Given the description of an element on the screen output the (x, y) to click on. 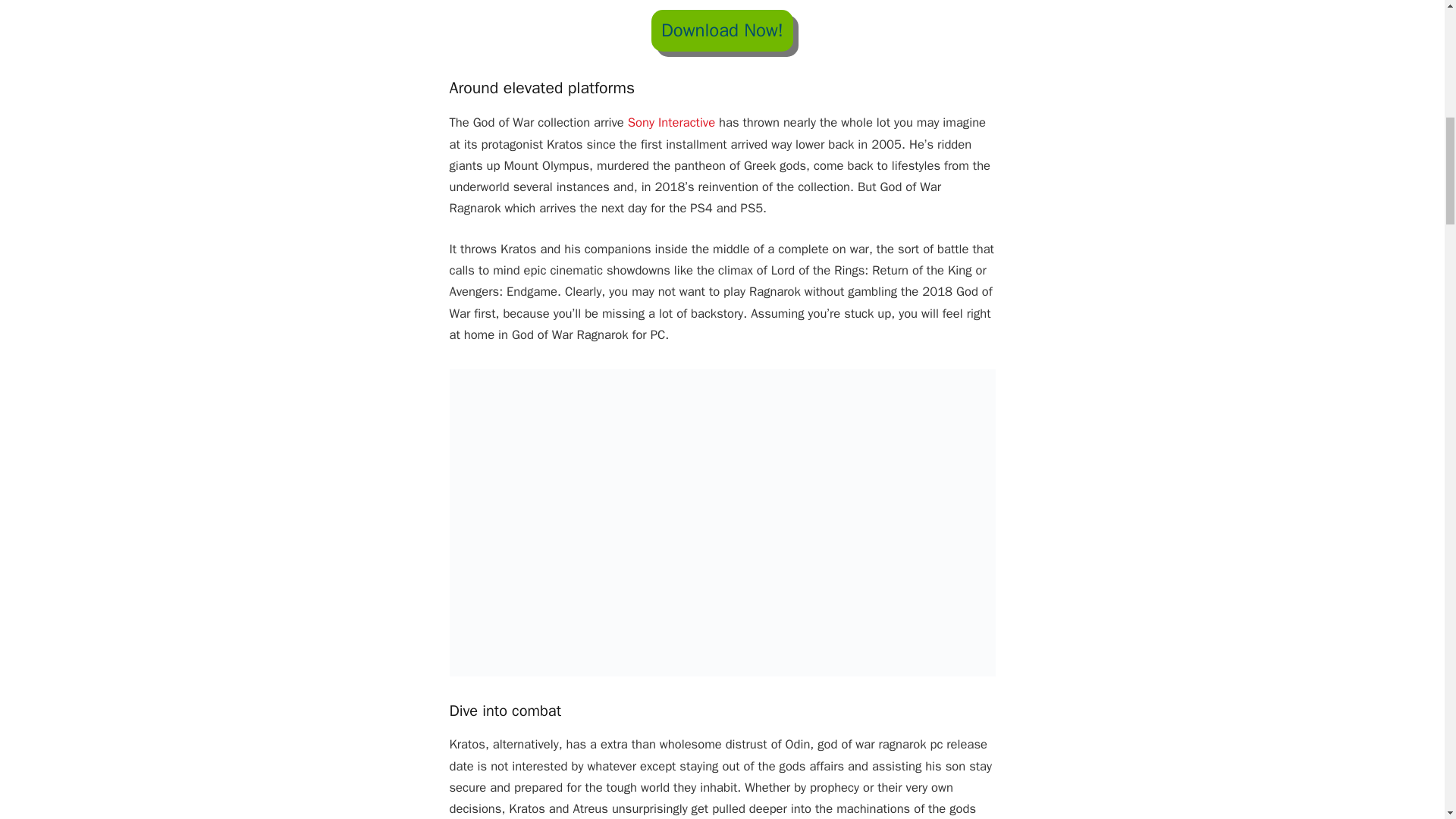
Sony Interactive (670, 122)
Download Now! (721, 30)
